Given the description of an element on the screen output the (x, y) to click on. 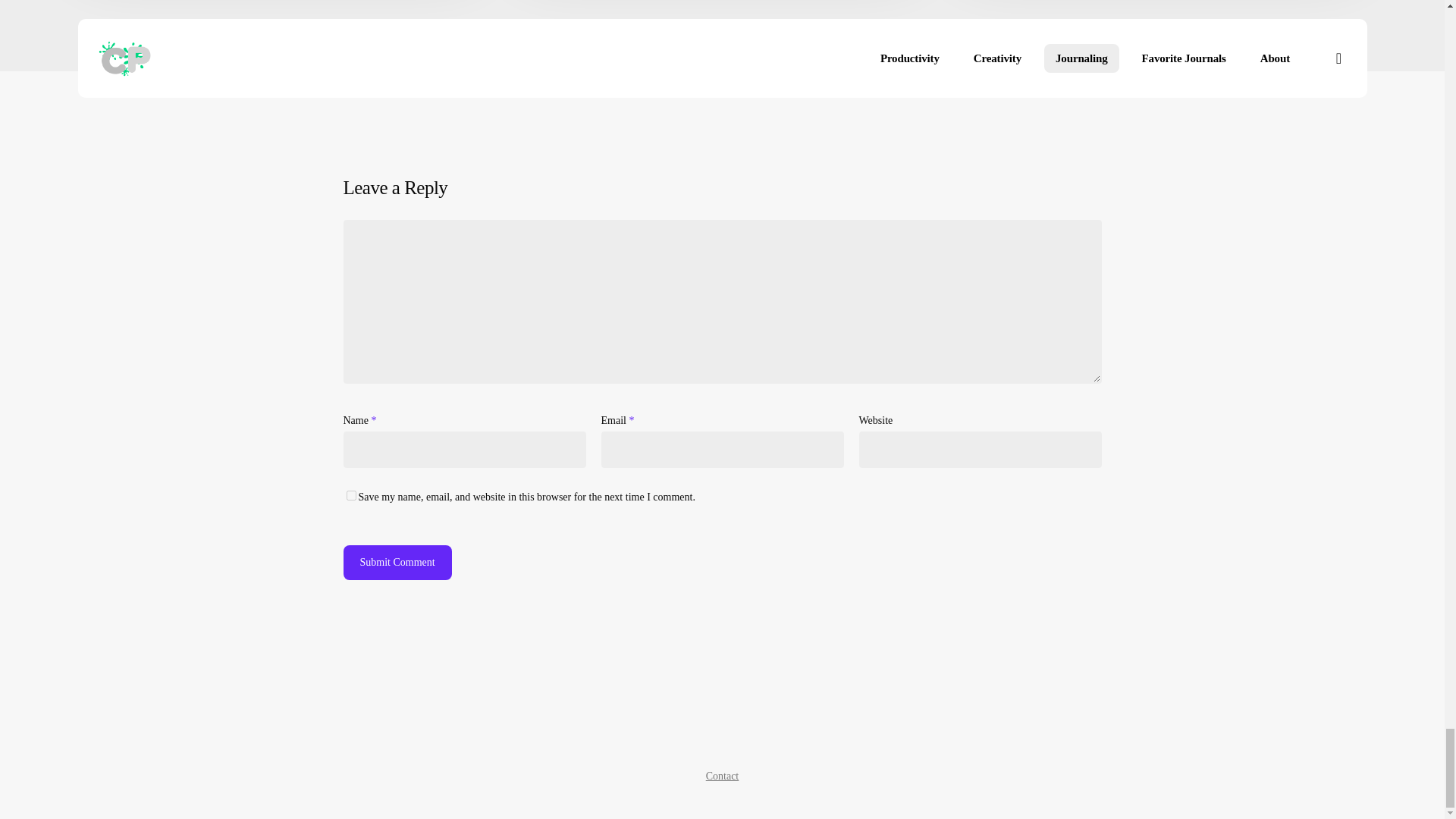
yes (350, 495)
Submit Comment (396, 562)
